Given the description of an element on the screen output the (x, y) to click on. 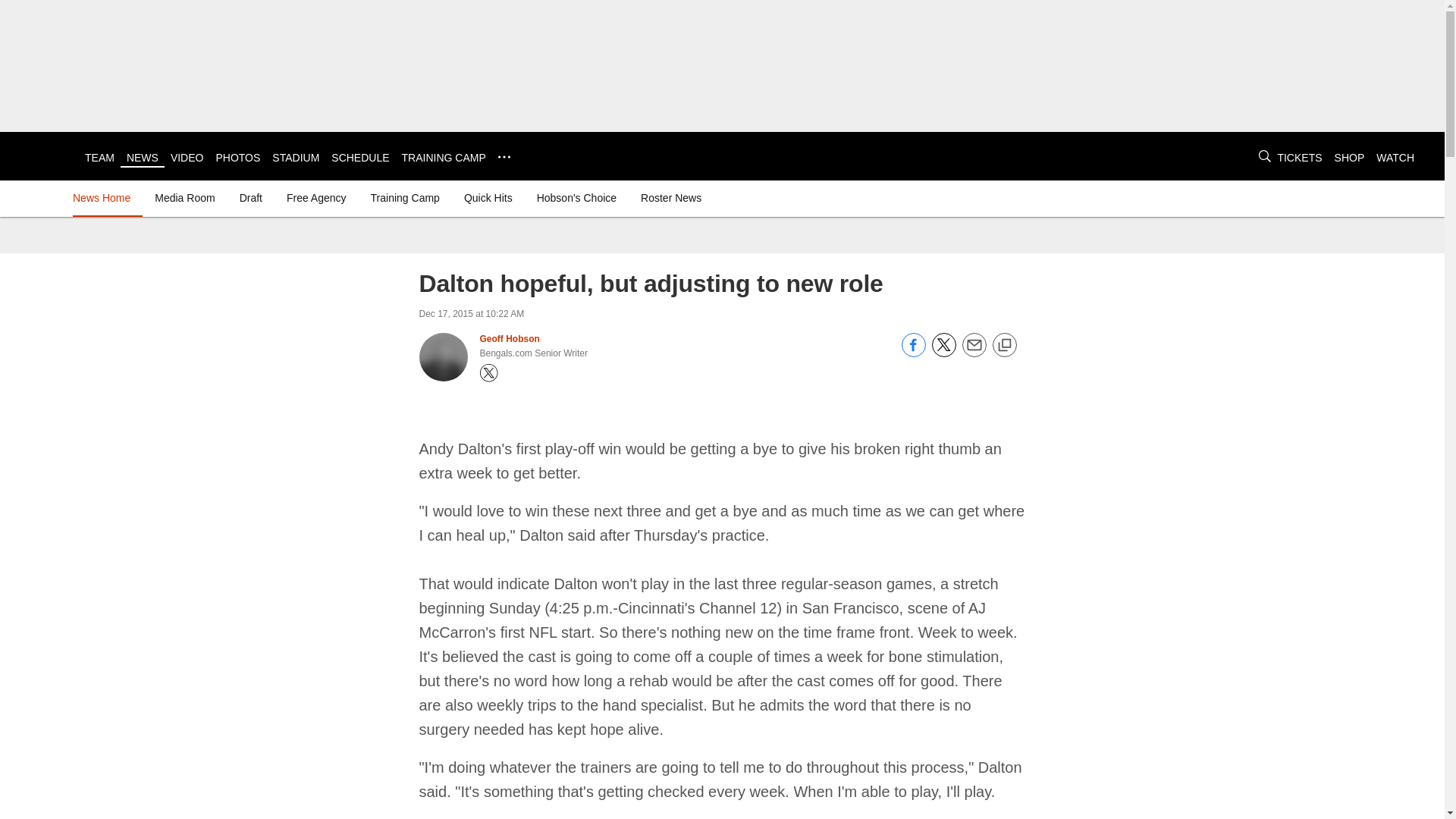
NEWS (142, 157)
TICKETS (1299, 157)
TICKETS (1299, 157)
Link to club's homepage (42, 156)
Roster News (670, 197)
TEAM (99, 157)
NEWS (142, 157)
News Home (104, 197)
Free Agency (316, 197)
STADIUM (295, 157)
PHOTOS (237, 157)
Media Room (184, 197)
SHOP (1350, 157)
VIDEO (186, 157)
TEAM (99, 157)
